Given the description of an element on the screen output the (x, y) to click on. 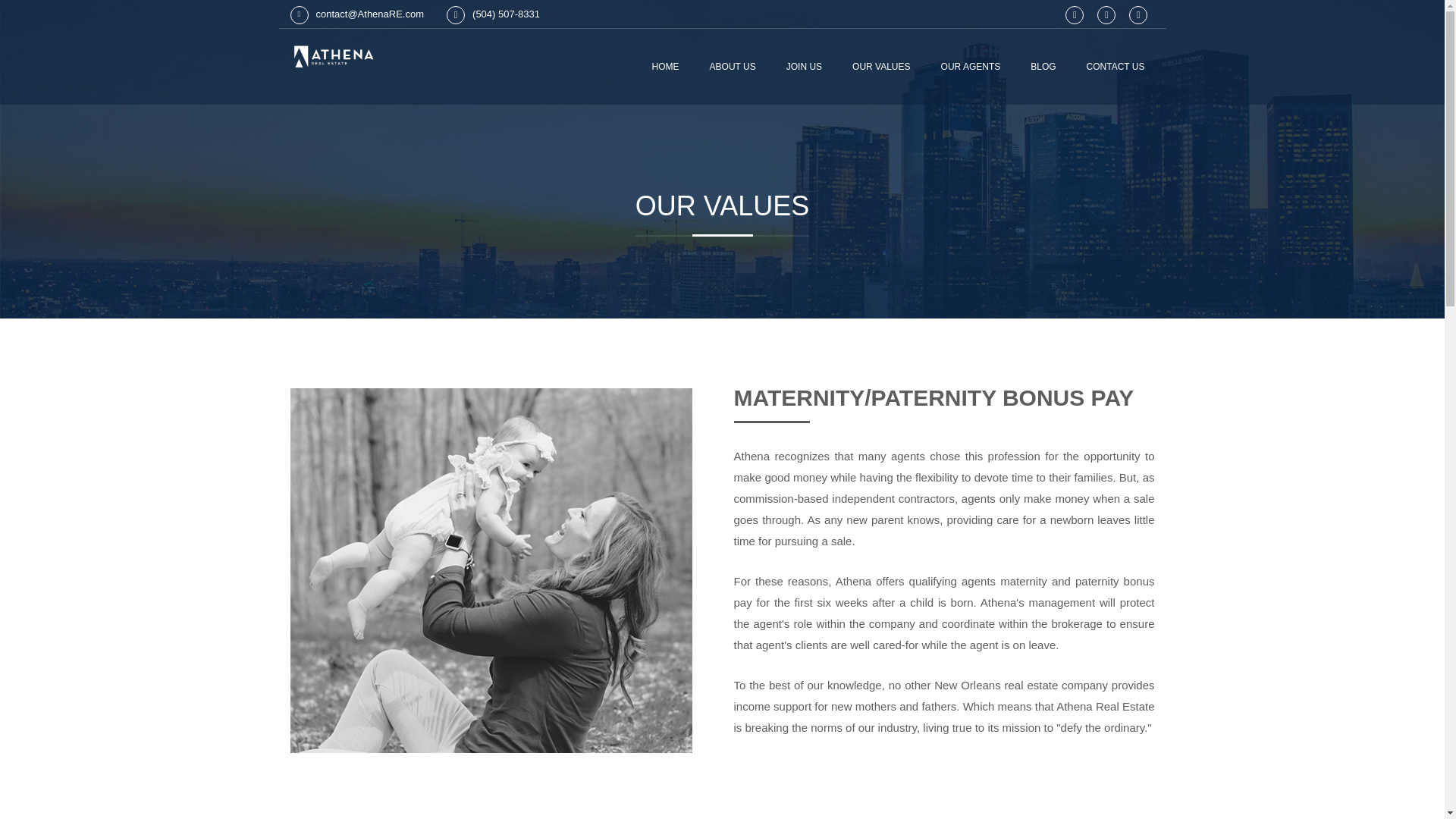
CONTACT US (1115, 66)
LinkedIn (1074, 14)
OUR VALUES (881, 66)
BLOG (1042, 66)
ABOUT US (732, 66)
Facebook (1138, 14)
Twitter (1106, 14)
OUR AGENTS (970, 66)
JOIN US (803, 66)
HOME (665, 66)
